Given the description of an element on the screen output the (x, y) to click on. 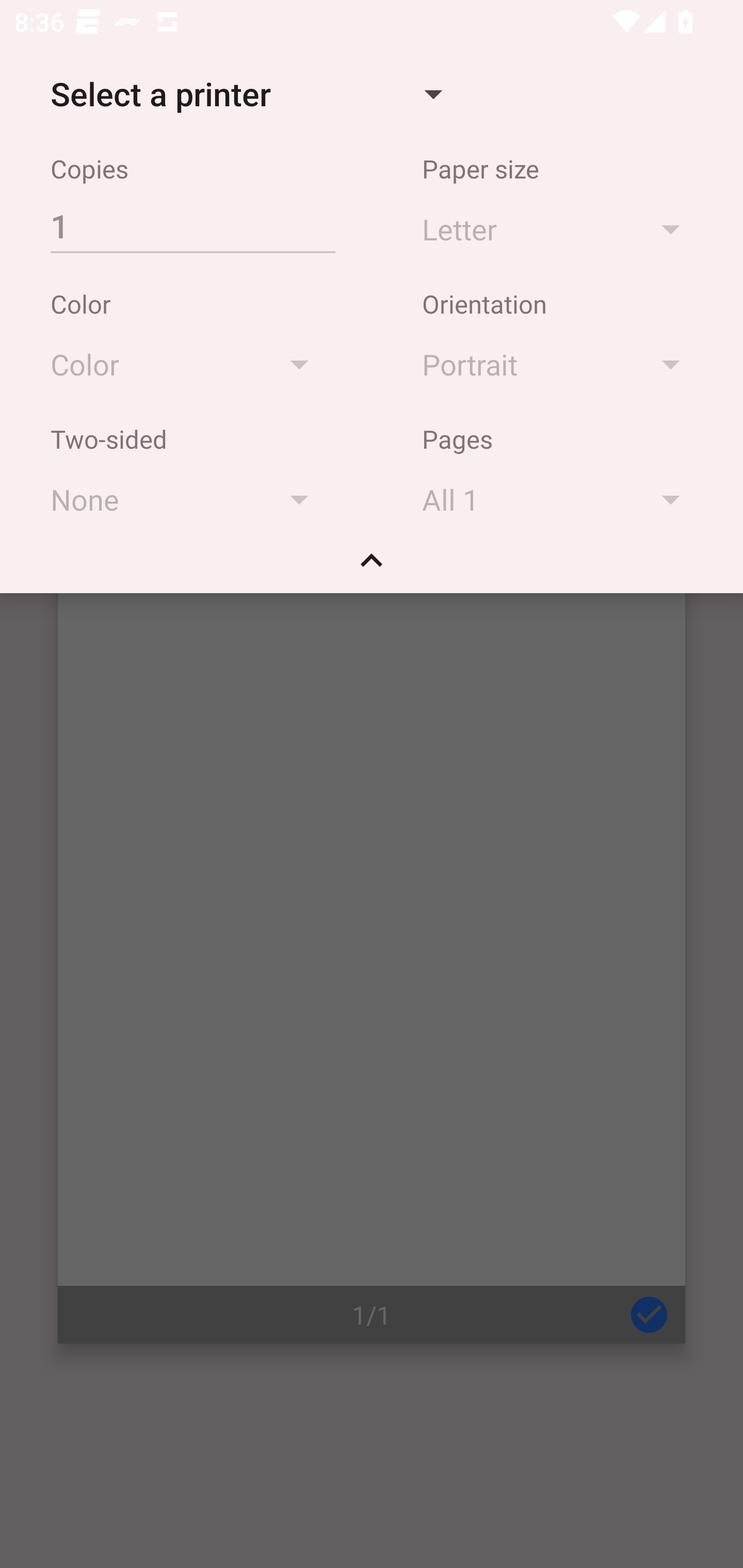
Select a printer (245, 93)
1 (192, 225)
Letter (560, 228)
Color (189, 364)
Portrait (560, 364)
None (189, 499)
All 1 (560, 499)
Collapse handle (371, 567)
